Given the description of an element on the screen output the (x, y) to click on. 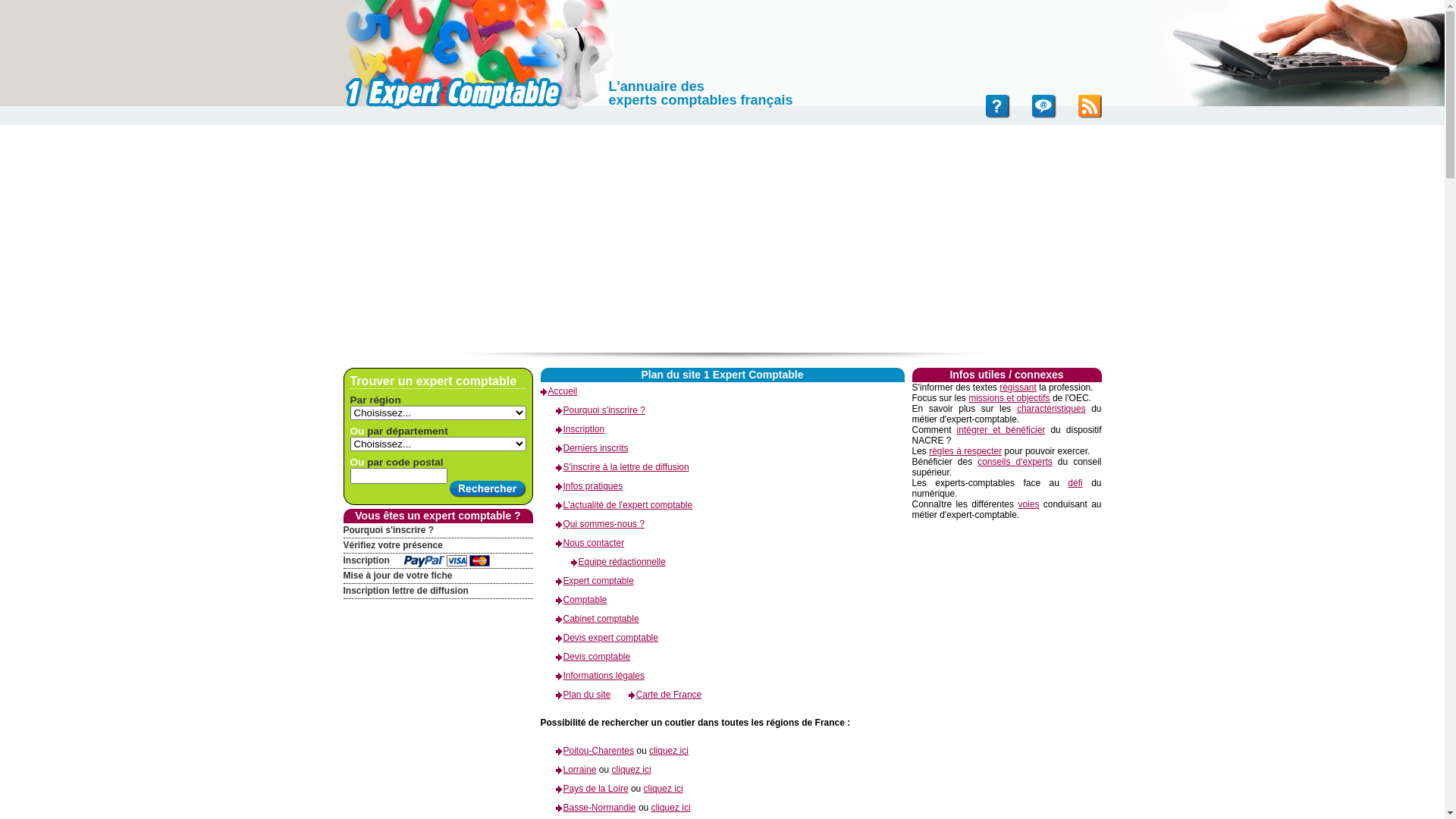
conseils d'experts Element type: text (1014, 461)
cliquez ici Element type: text (670, 807)
Expert comptable Element type: text (586, 580)
Poitou-Charentes Element type: text (586, 750)
Comptable Element type: text (572, 599)
Inscription Element type: text (571, 428)
Carte de France Element type: text (657, 694)
Infos pratiques Element type: text (580, 485)
Inscription lettre de diffusion Element type: text (437, 590)
Accueil Element type: text (558, 390)
Qui sommes-nous ? Element type: text (591, 523)
voies Element type: text (1027, 503)
Lorraine Element type: text (567, 769)
missions et objectifs Element type: text (1008, 397)
Nous contacter Element type: text (581, 542)
Basse-Normandie Element type: text (587, 807)
Devis comptable Element type: text (584, 656)
Derniers inscrits Element type: text (583, 447)
Pourquoi s'inscrire ? Element type: text (437, 530)
Devis expert comptable Element type: text (598, 637)
cliquez ici Element type: text (663, 788)
Pays de la Loire Element type: text (583, 788)
cliquez ici Element type: text (668, 750)
Plan du site Element type: text (574, 694)
Inscription Element type: text (437, 560)
Cabinet comptable Element type: text (588, 618)
Pourquoi s'inscrire ? Element type: text (591, 409)
cliquez ici Element type: text (631, 769)
